Given the description of an element on the screen output the (x, y) to click on. 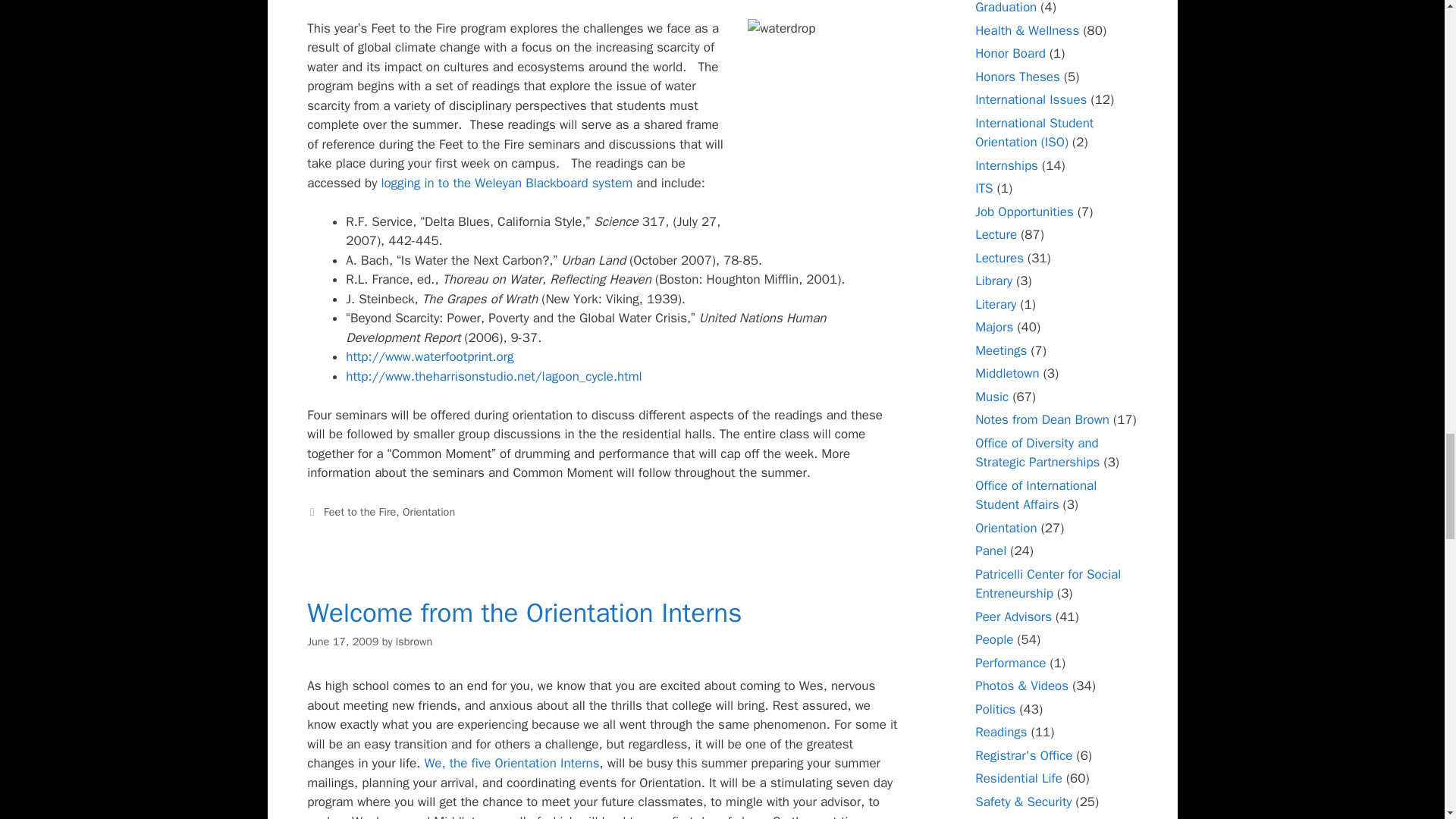
View all posts by lsbrown (414, 641)
